Given the description of an element on the screen output the (x, y) to click on. 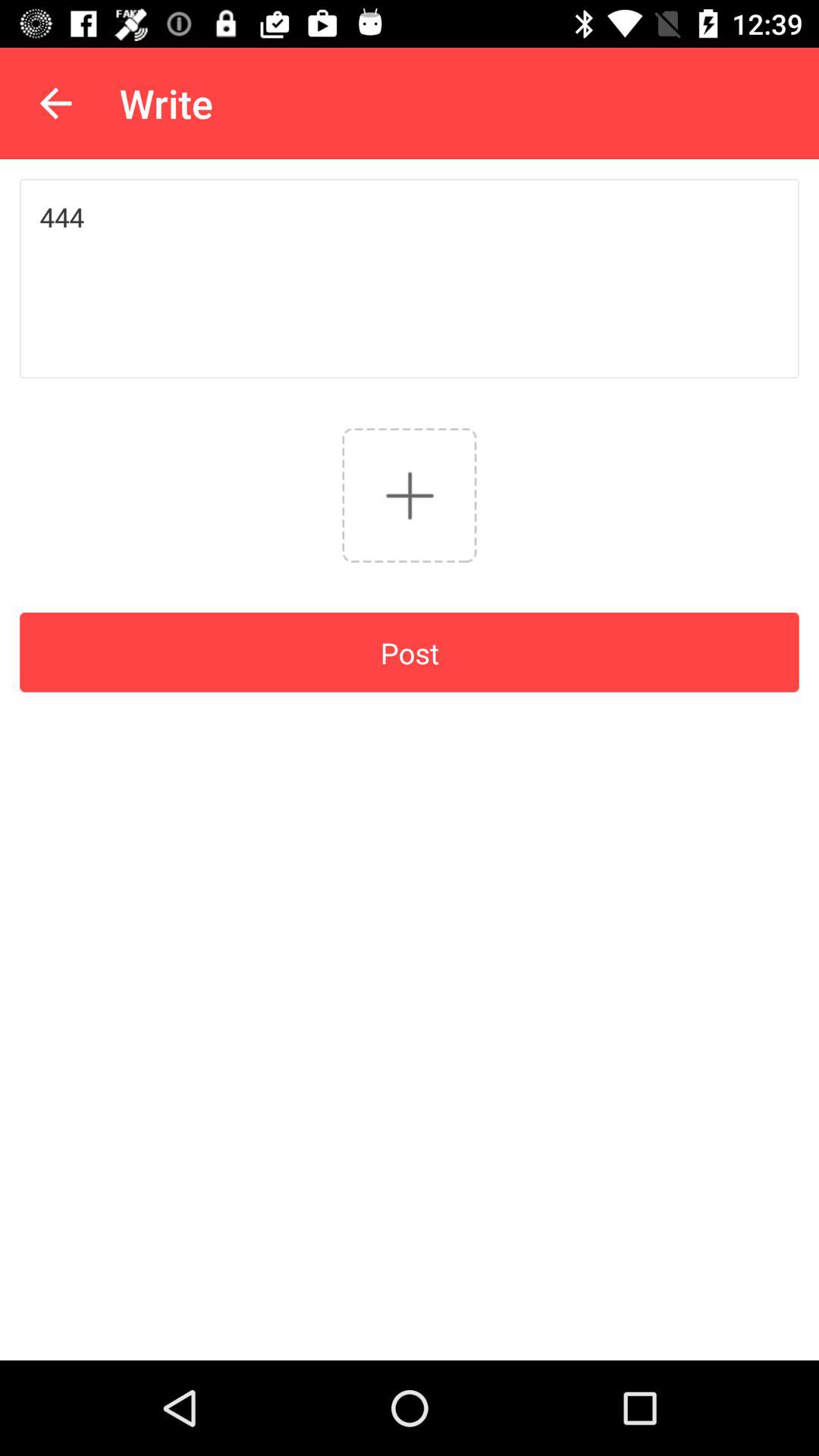
select the item above the 444 icon (55, 103)
